Given the description of an element on the screen output the (x, y) to click on. 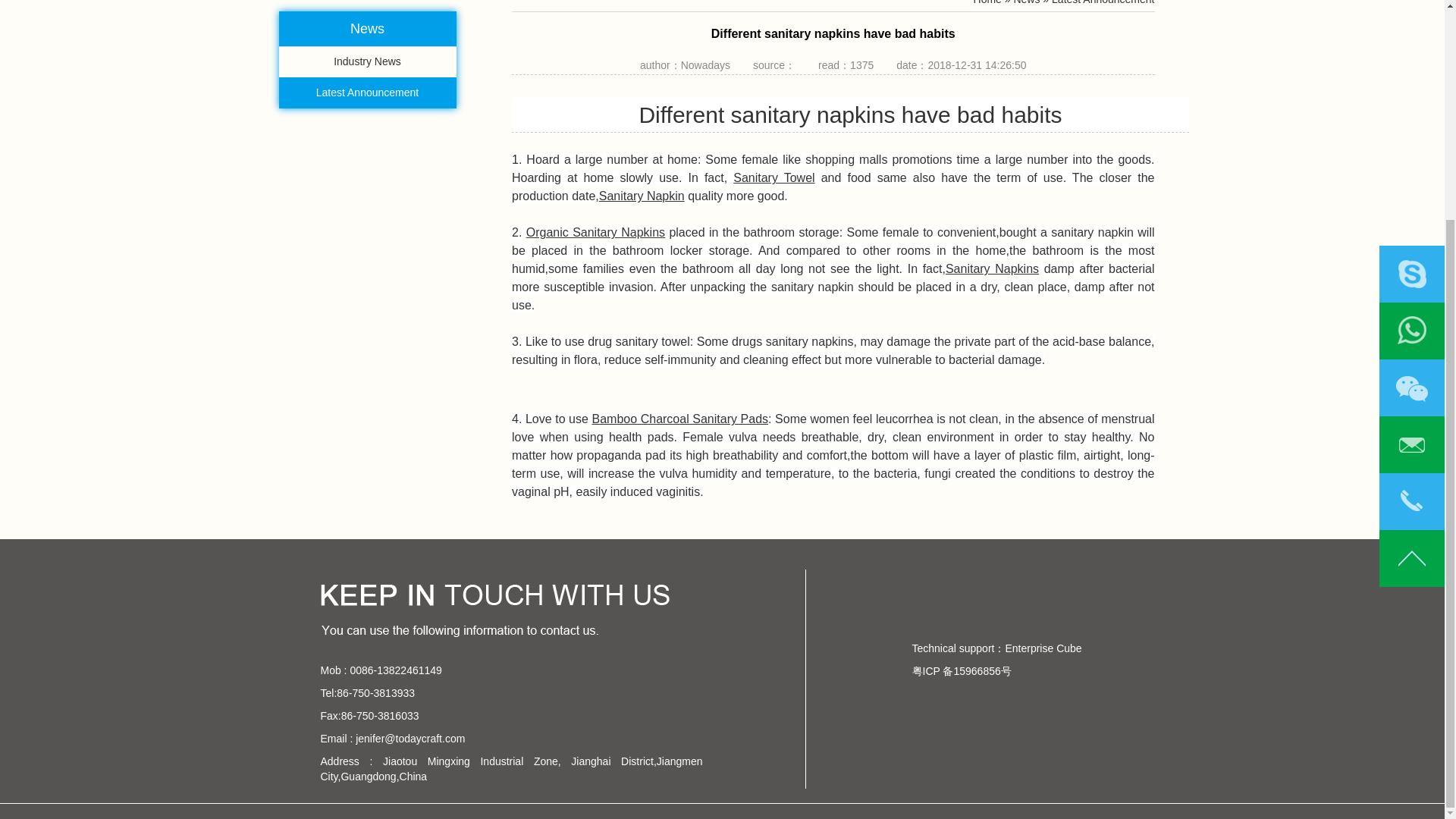
News (1026, 2)
Latest Announcement (368, 92)
Latest Announcement (1102, 2)
Home (987, 2)
Industry News (368, 61)
Industry News (368, 61)
Latest Announcement (368, 92)
